Given the description of an element on the screen output the (x, y) to click on. 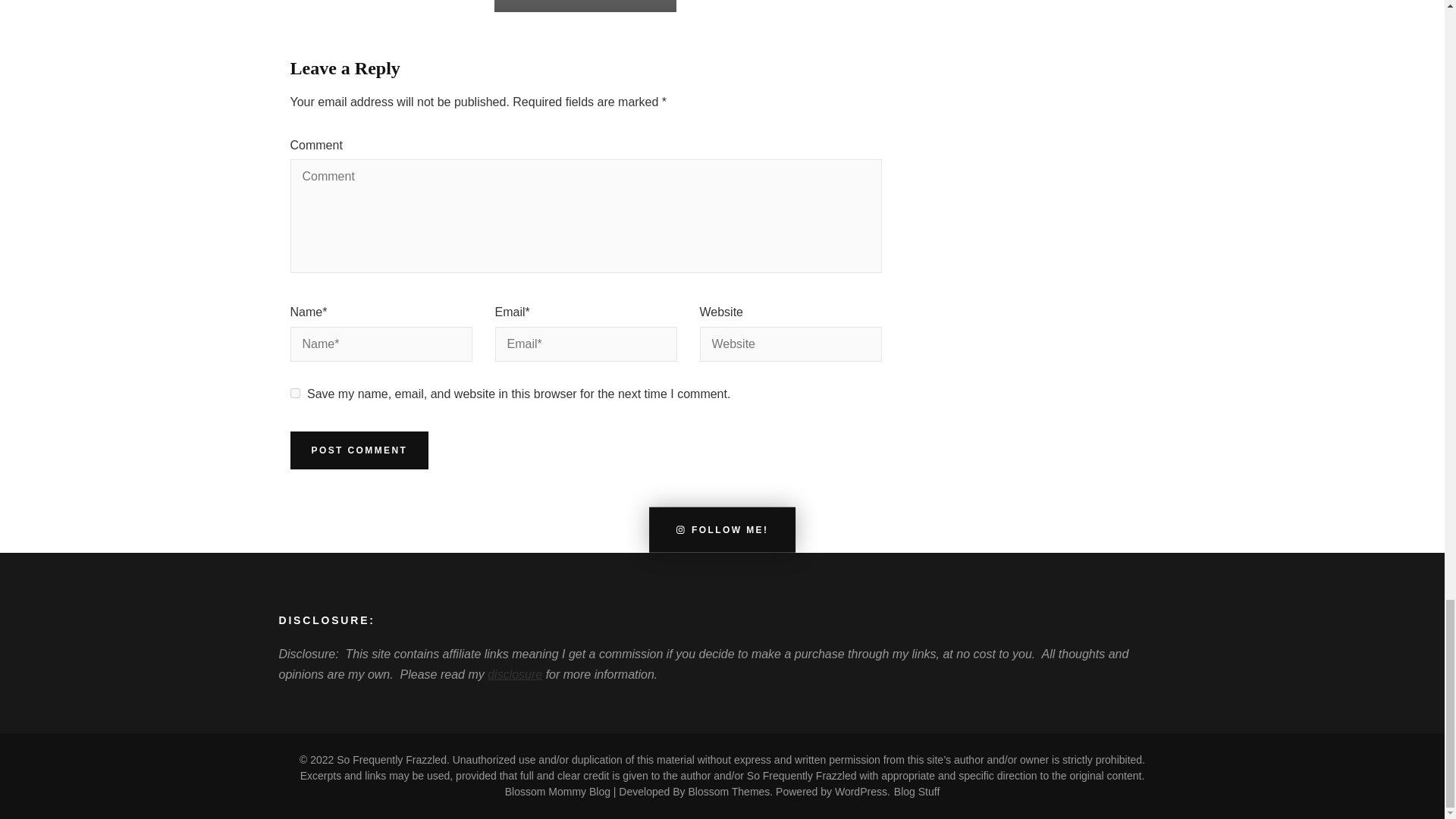
Post Comment (358, 450)
yes (294, 393)
